Given the description of an element on the screen output the (x, y) to click on. 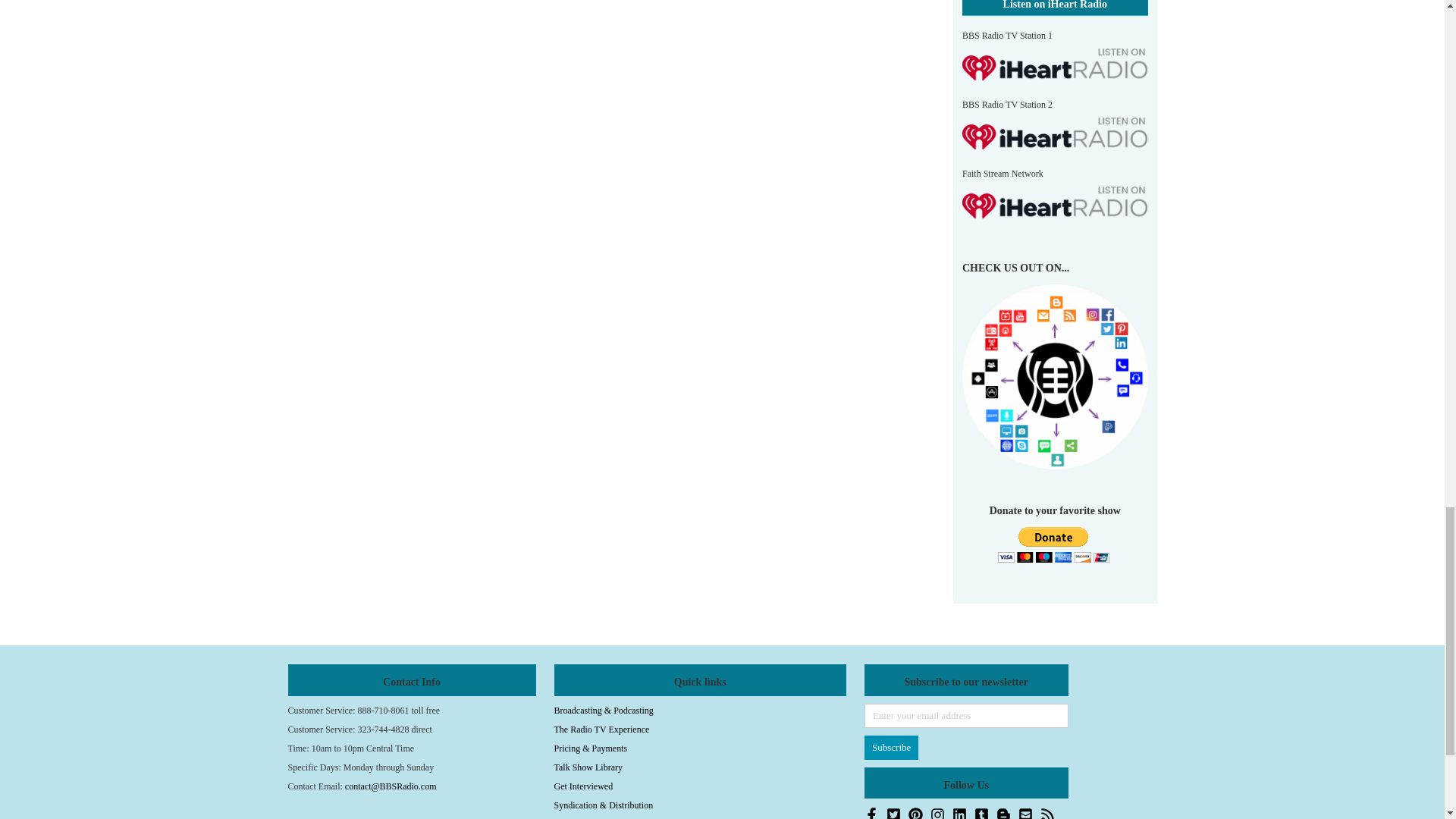
Subscribe (891, 747)
